Given the description of an element on the screen output the (x, y) to click on. 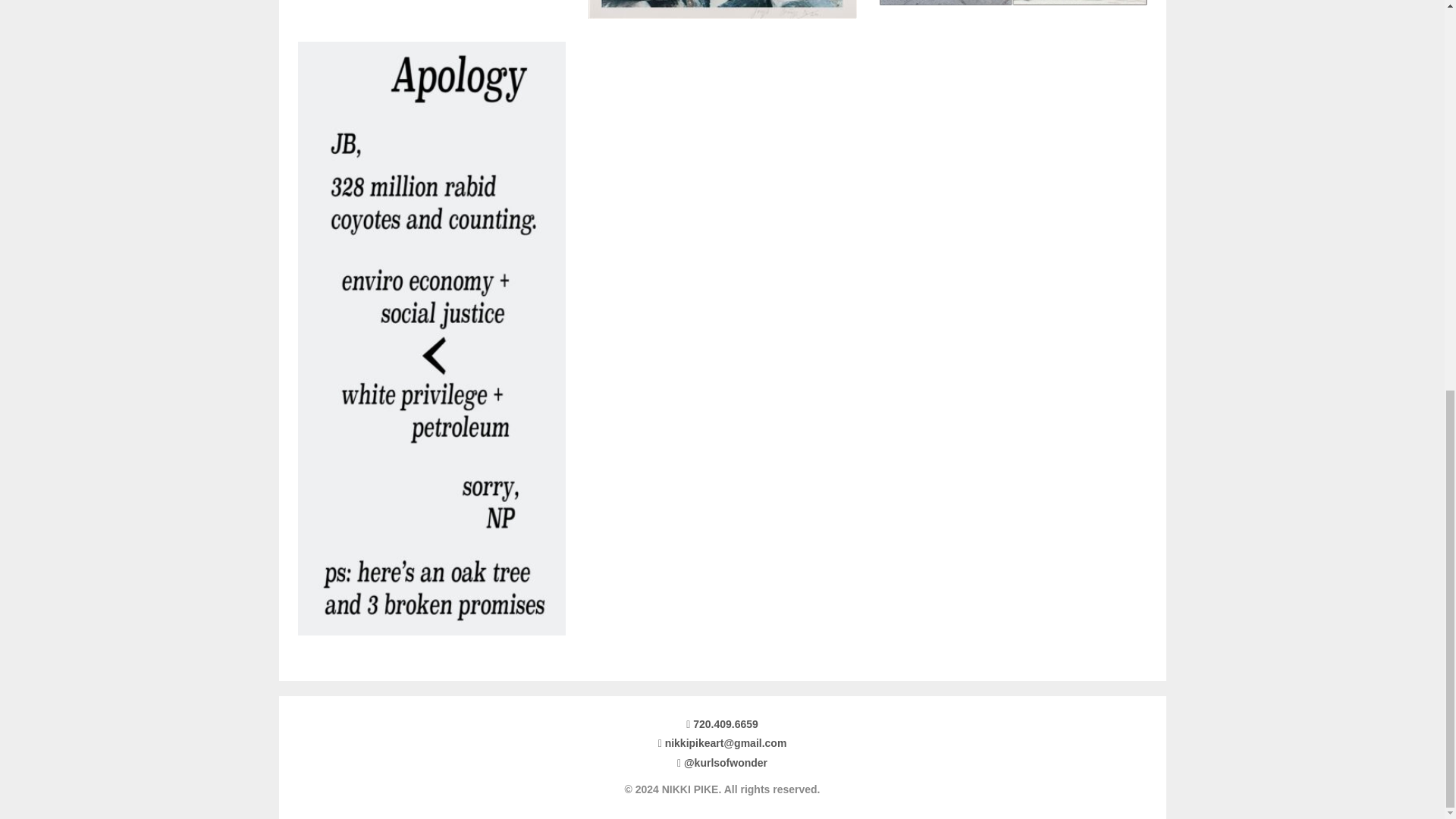
720.409.6659 (721, 723)
